Given the description of an element on the screen output the (x, y) to click on. 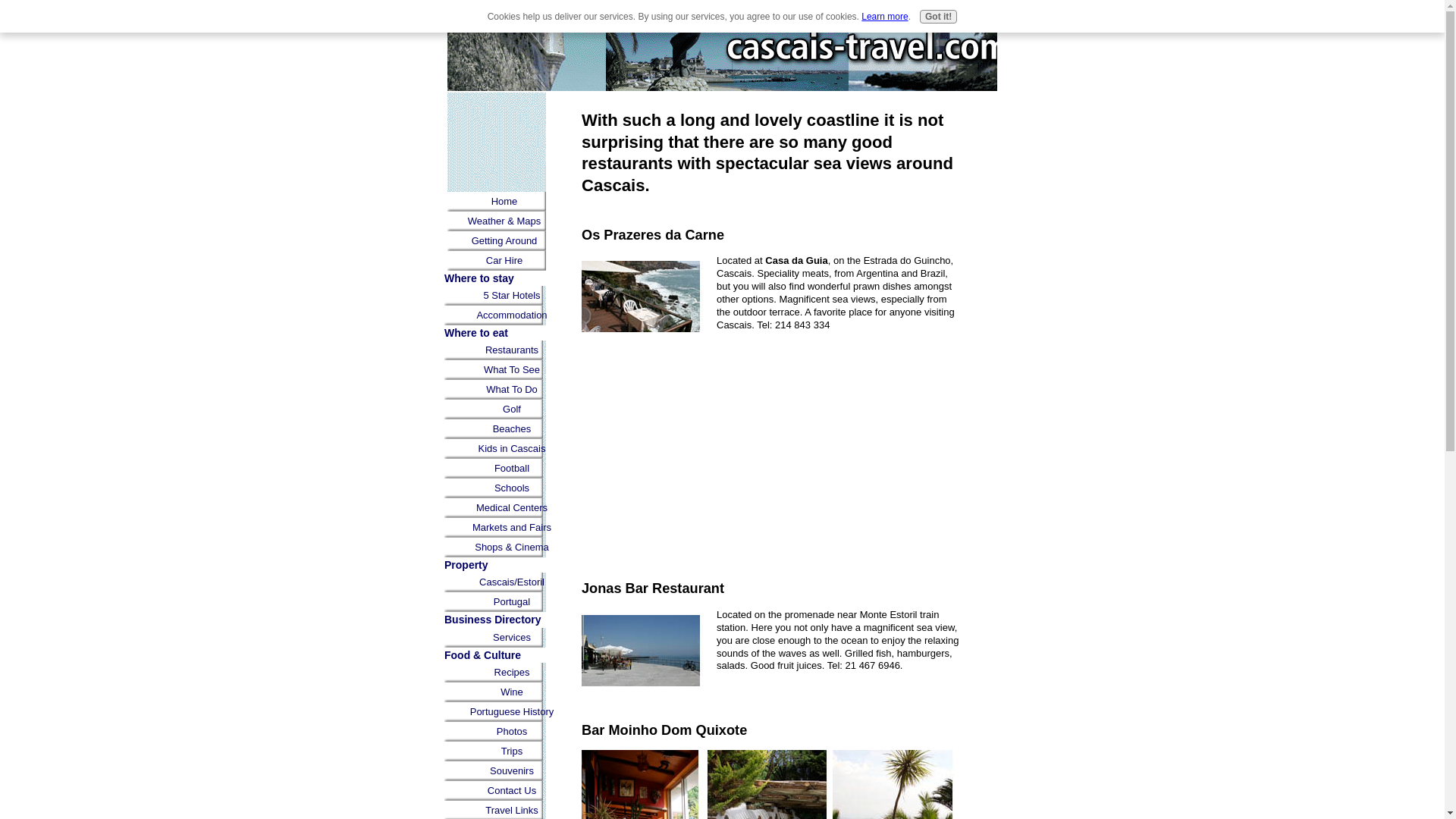
Markets and Fairs (511, 527)
Medical Centers (511, 507)
Restaurants (511, 350)
Services (511, 637)
Getting Around (503, 240)
Schools (511, 487)
Contact Us (511, 790)
5 Star Hotels (511, 295)
Advertisement (495, 145)
Recipes (511, 672)
